Given the description of an element on the screen output the (x, y) to click on. 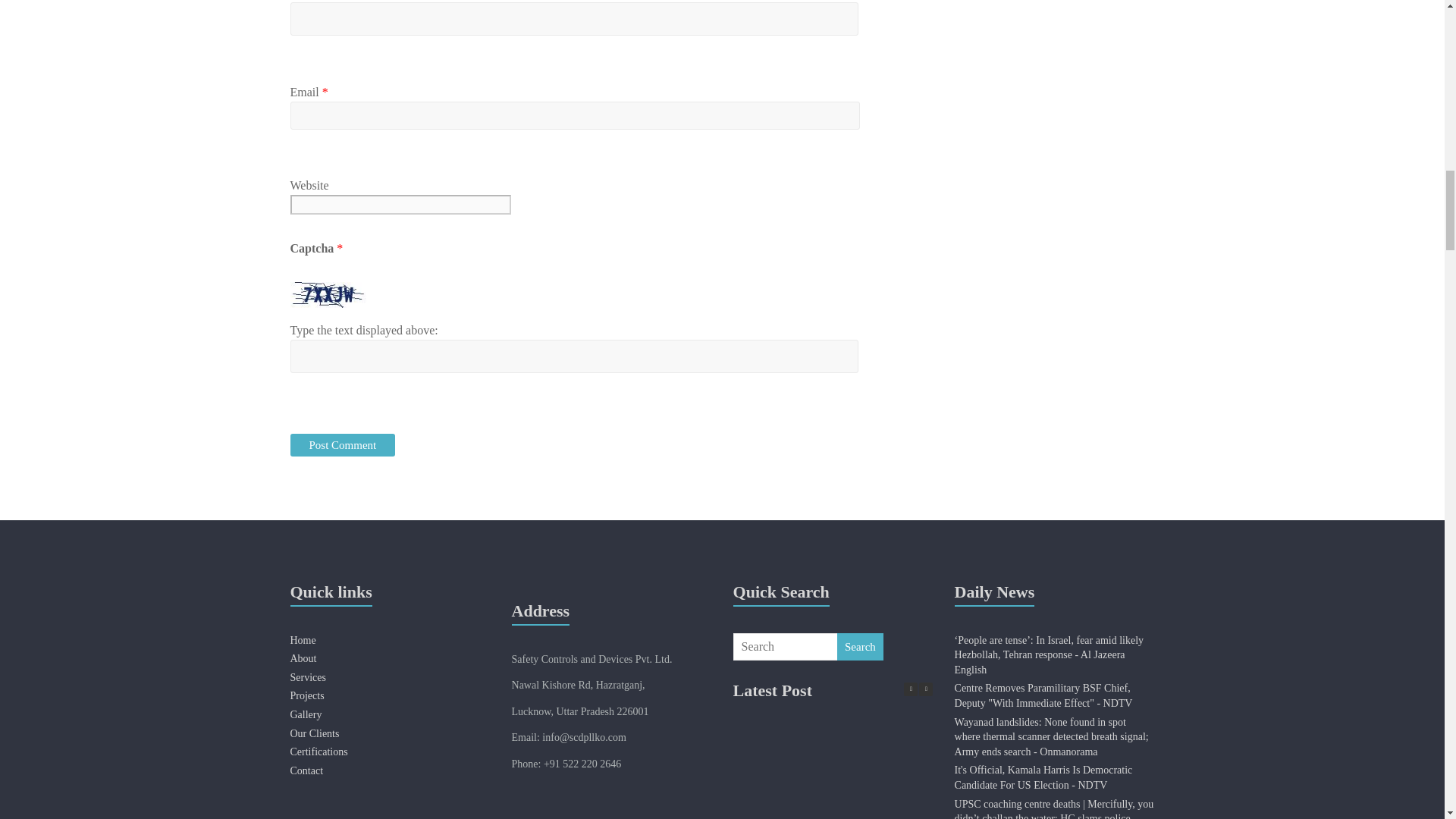
Projects (306, 695)
Post Comment (341, 445)
About (302, 658)
Previous (910, 689)
Home (302, 640)
Search (860, 646)
Post Comment (341, 445)
Gallery (305, 714)
Our Clients (314, 733)
The Indian Express (1054, 808)
